Given the description of an element on the screen output the (x, y) to click on. 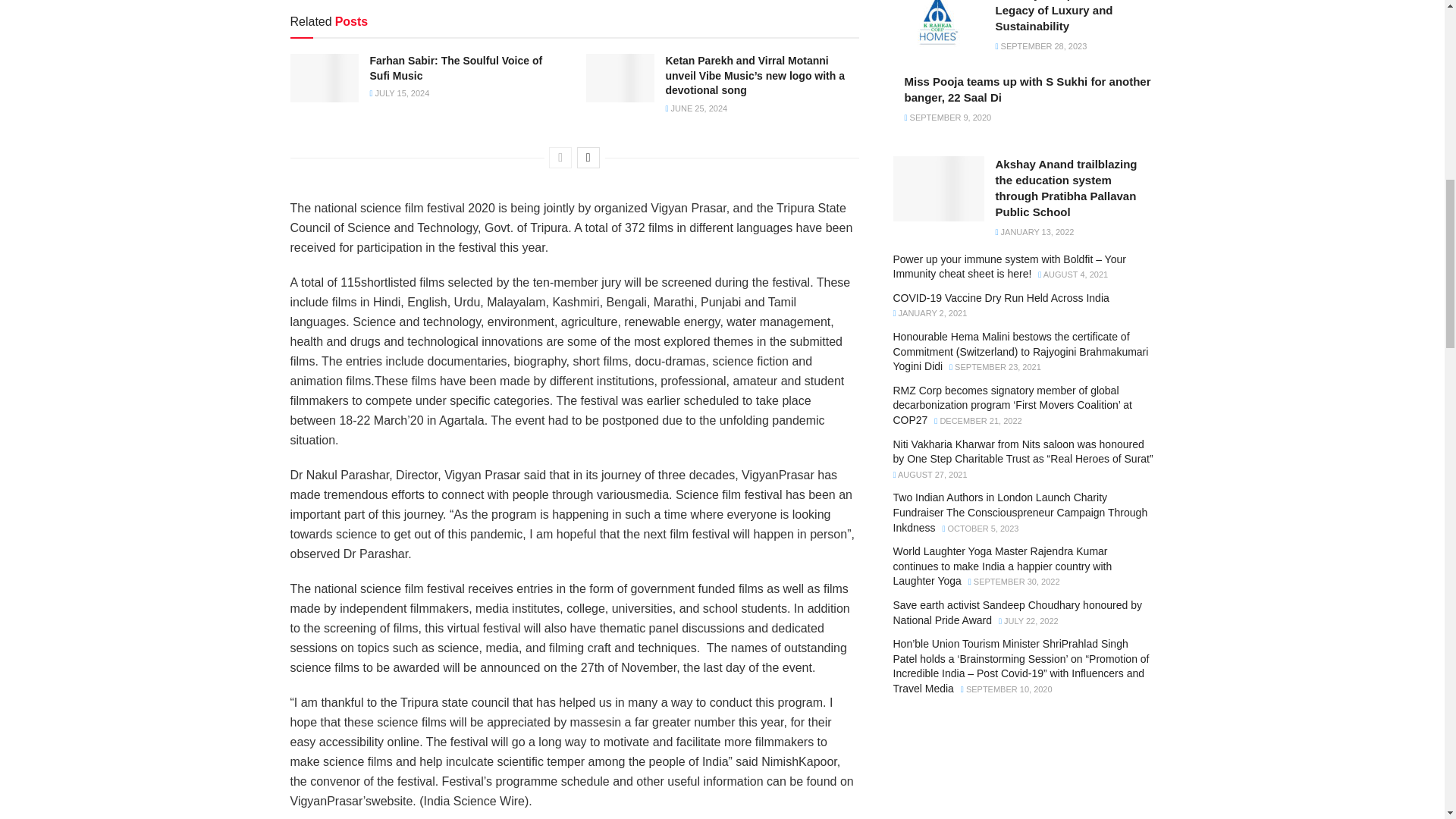
Previous (560, 157)
Next (587, 157)
